Given the description of an element on the screen output the (x, y) to click on. 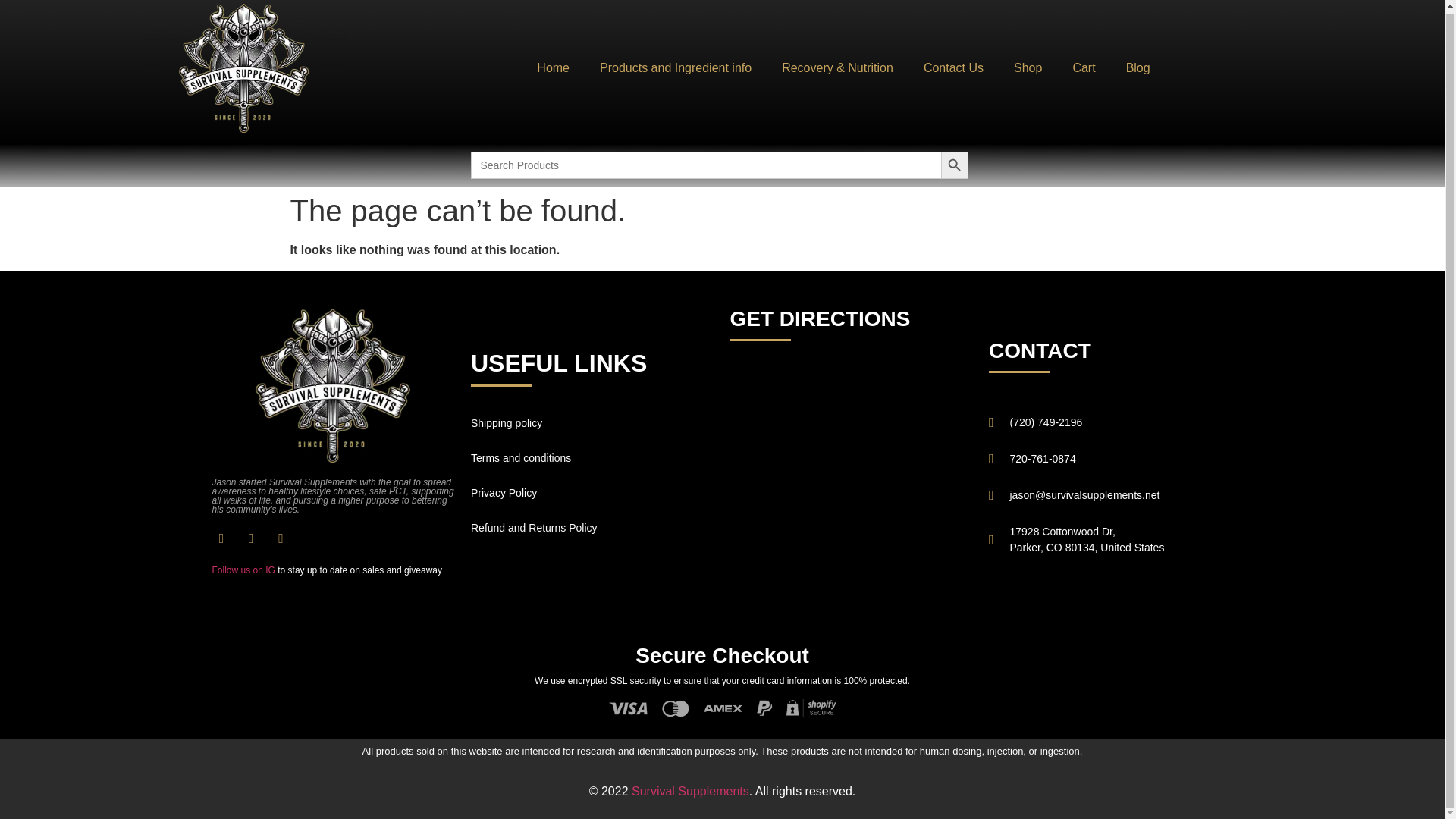
Search Button (954, 165)
Refund and Returns Policy (592, 527)
Shipping policy (592, 422)
Follow us on IG (1110, 540)
Shop (243, 570)
Products and Ingredient info (1027, 67)
Contact Us (676, 67)
Privacy Policy (953, 67)
Terms and conditions (592, 492)
